Given the description of an element on the screen output the (x, y) to click on. 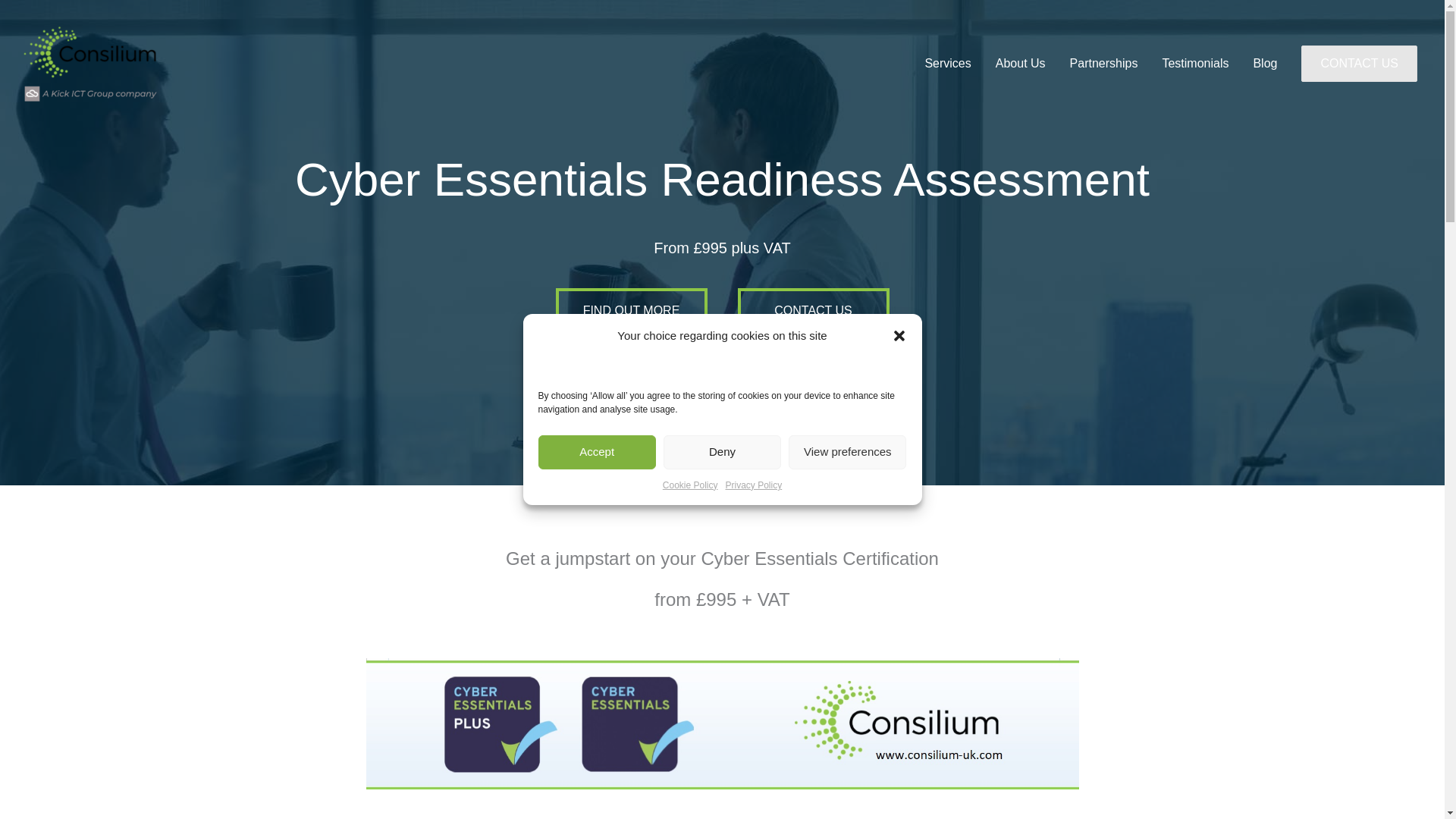
Cookie Policy (689, 561)
CONTACT US (1358, 63)
Deny (721, 612)
Accept (597, 637)
CONTACT US (812, 310)
cyber-essentials-banner-v3 (721, 723)
Testimonials (1195, 63)
Blog (1264, 63)
Partnerships (1104, 63)
Privacy Policy (753, 548)
View preferences (847, 589)
CONTACT US (1358, 62)
Services (947, 63)
About Us (1021, 63)
FIND OUT MORE (630, 310)
